Given the description of an element on the screen output the (x, y) to click on. 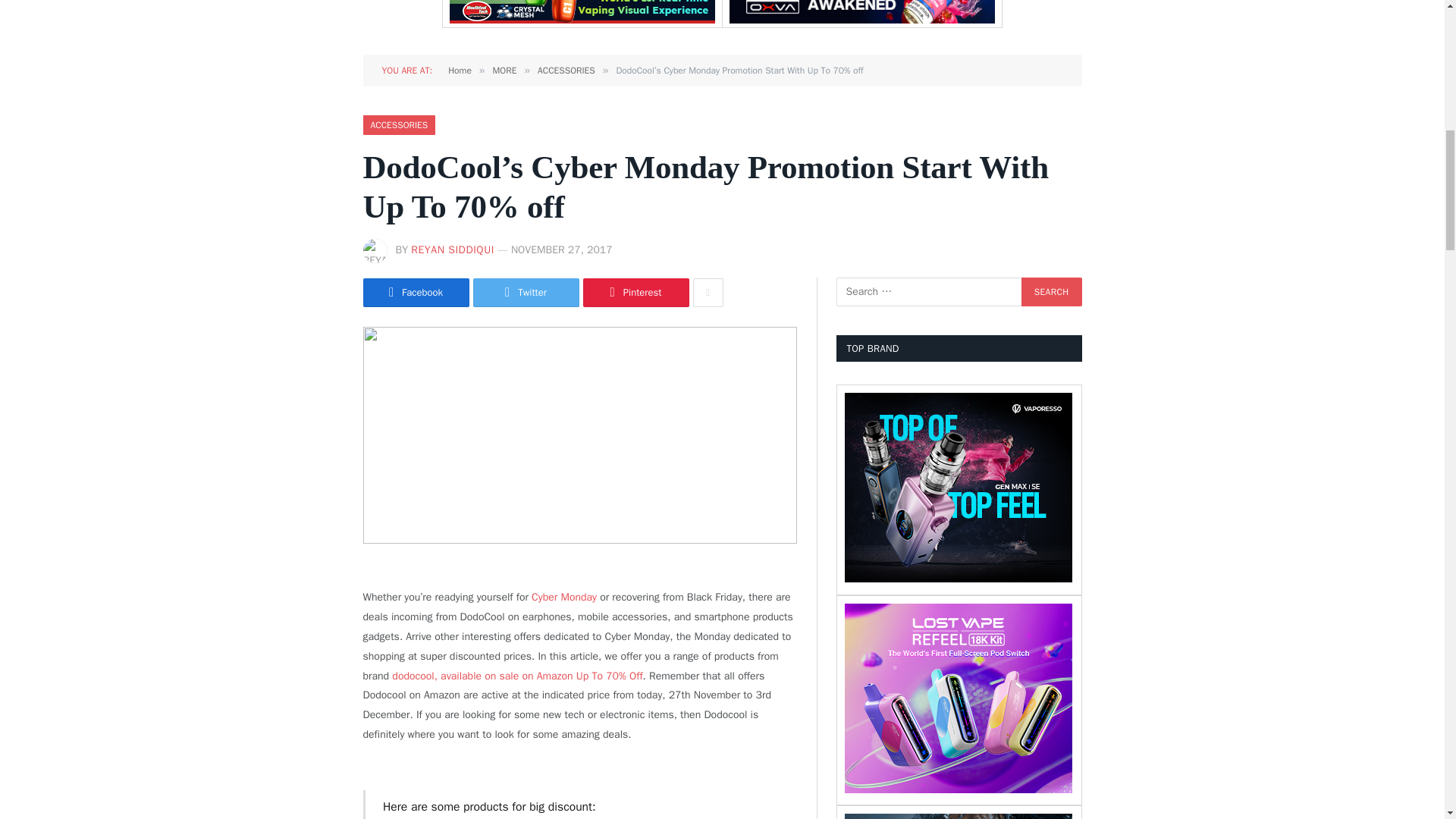
Share on Twitter (526, 292)
Share on Pinterest (635, 292)
Posts by Reyan Siddiqui (452, 249)
Show More Social Sharing (708, 292)
Search (1051, 291)
Share on Facebook (415, 292)
Search (1051, 291)
